Given the description of an element on the screen output the (x, y) to click on. 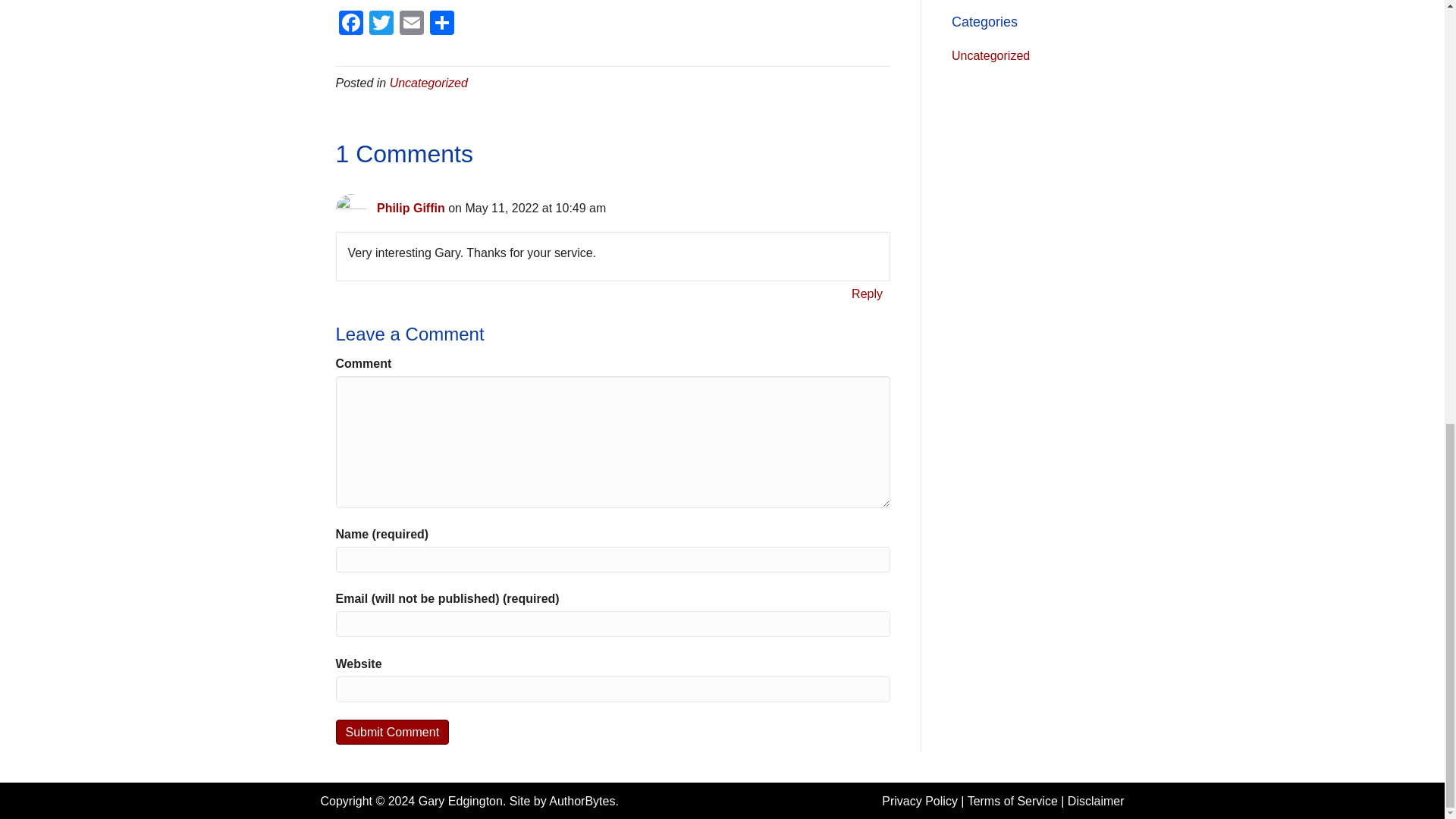
Submit Comment (391, 731)
Twitter (380, 24)
Submit Comment (391, 731)
Uncategorized (428, 82)
Philip Giffin (411, 207)
Email (411, 24)
Facebook (349, 24)
Twitter (380, 24)
Email (411, 24)
Facebook (349, 24)
Reply (866, 293)
